Given the description of an element on the screen output the (x, y) to click on. 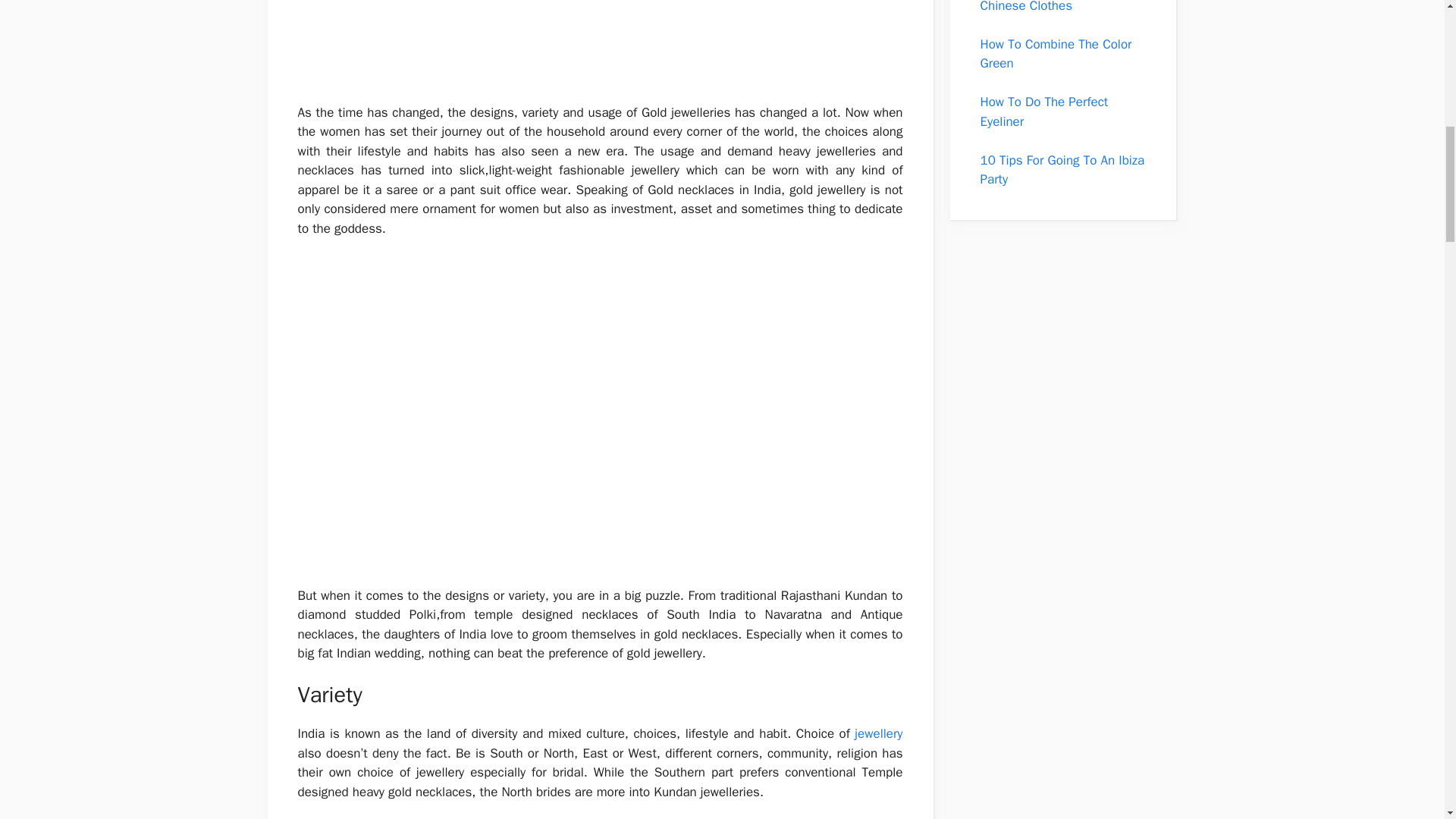
10 Tips For Going To An Ibiza Party (1061, 169)
How To Do The Perfect Eyeliner (1043, 111)
jewellery (878, 733)
How To Combine The Color Green (1055, 54)
